Given the description of an element on the screen output the (x, y) to click on. 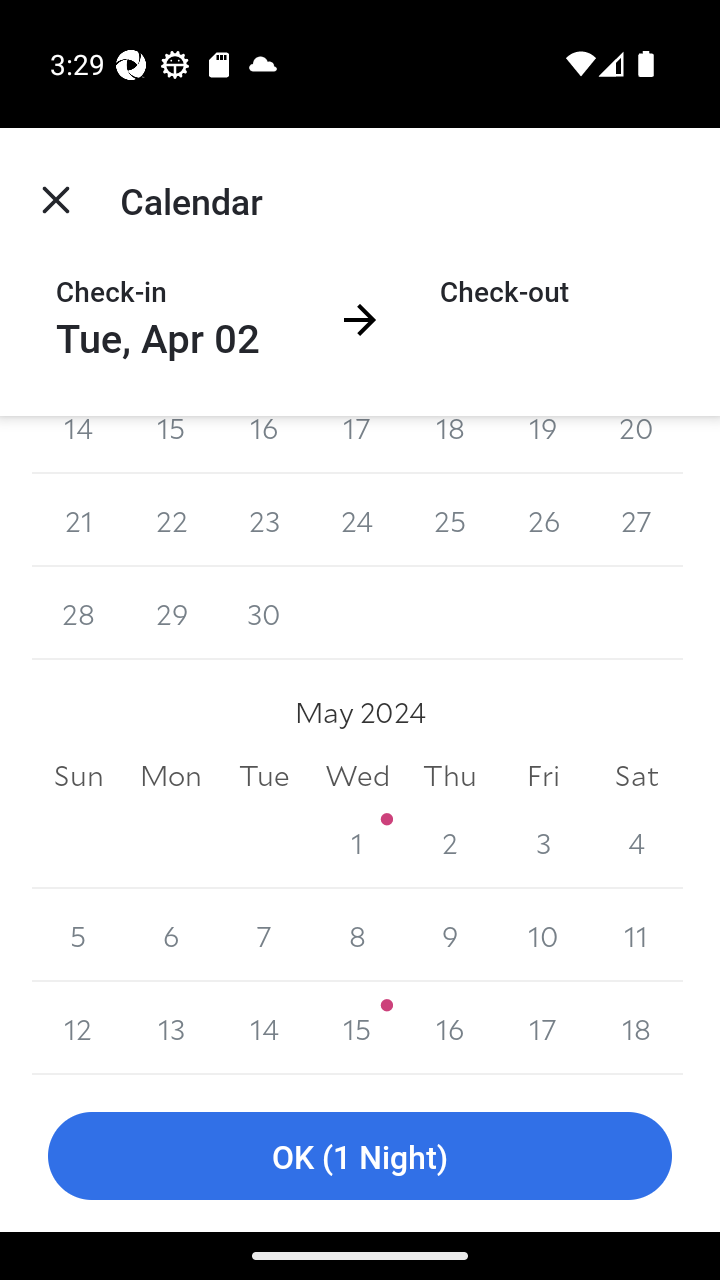
14 14 April 2024 (78, 444)
15 15 April 2024 (171, 444)
16 16 April 2024 (264, 444)
17 17 April 2024 (357, 444)
18 18 April 2024 (449, 444)
19 19 April 2024 (542, 444)
20 20 April 2024 (636, 444)
21 21 April 2024 (78, 520)
22 22 April 2024 (171, 520)
23 23 April 2024 (264, 520)
24 24 April 2024 (357, 520)
25 25 April 2024 (449, 520)
26 26 April 2024 (542, 520)
27 27 April 2024 (636, 520)
28 28 April 2024 (78, 613)
29 29 April 2024 (171, 613)
30 30 April 2024 (264, 613)
Sun (78, 775)
Mon (171, 775)
Tue (264, 775)
Wed (357, 775)
Thu (449, 775)
Fri (542, 775)
Sat (636, 775)
1 1 May 2024 (357, 842)
2 2 May 2024 (449, 842)
3 3 May 2024 (542, 842)
4 4 May 2024 (636, 842)
5 5 May 2024 (78, 935)
6 6 May 2024 (171, 935)
7 7 May 2024 (264, 935)
8 8 May 2024 (357, 935)
9 9 May 2024 (449, 935)
10 10 May 2024 (542, 935)
11 11 May 2024 (636, 935)
12 12 May 2024 (78, 1028)
13 13 May 2024 (171, 1028)
14 14 May 2024 (264, 1028)
15 15 May 2024 (357, 1028)
16 16 May 2024 (449, 1028)
17 17 May 2024 (542, 1028)
18 18 May 2024 (636, 1028)
OK (1 Night) (359, 1156)
